Given the description of an element on the screen output the (x, y) to click on. 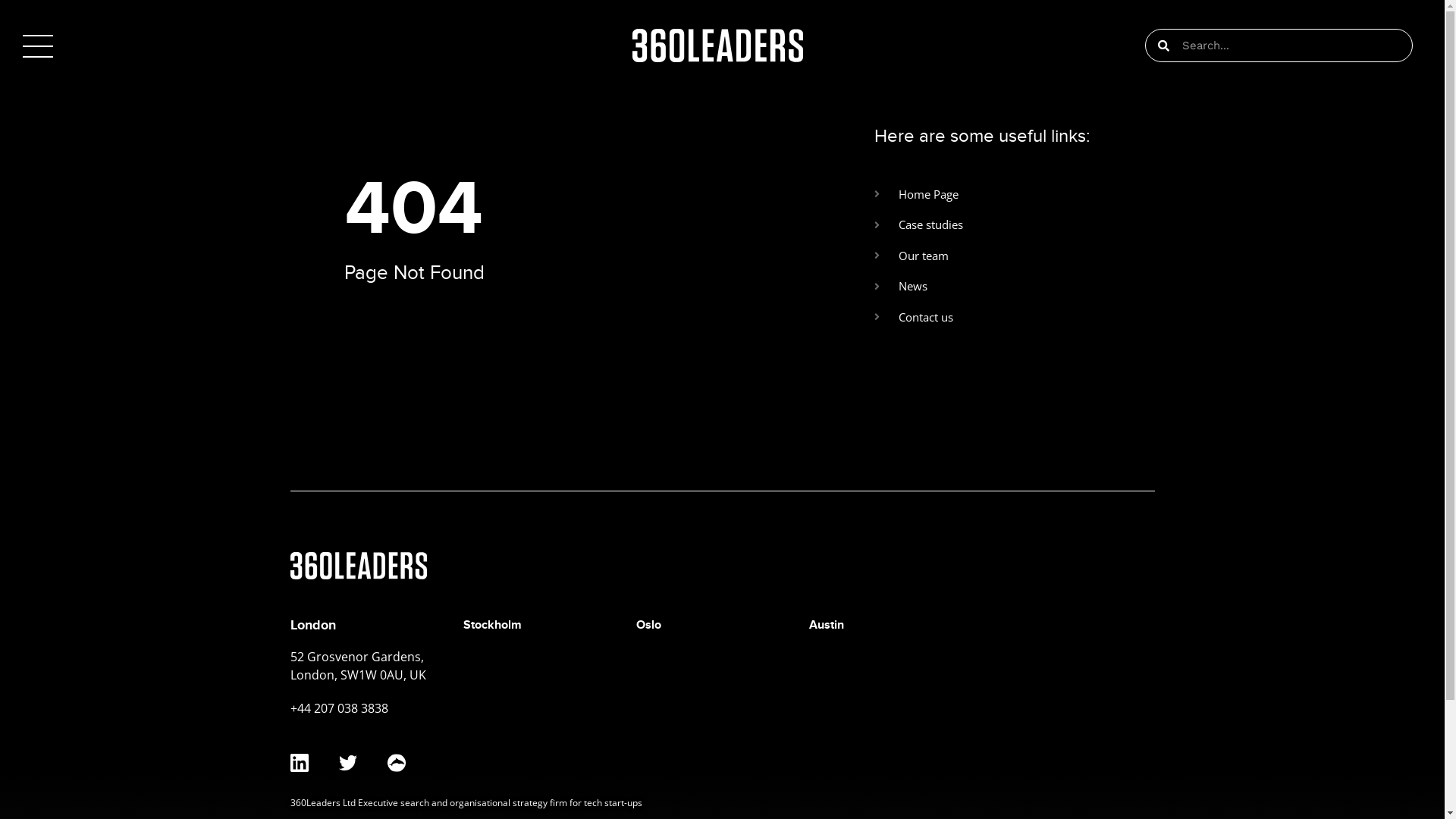
Contact us Element type: text (1147, 317)
Case studies Element type: text (1147, 224)
+44 207 038 3838 Element type: text (338, 707)
Home Page Element type: text (1147, 194)
Our team Element type: text (1147, 255)
News Element type: text (1147, 286)
